Given the description of an element on the screen output the (x, y) to click on. 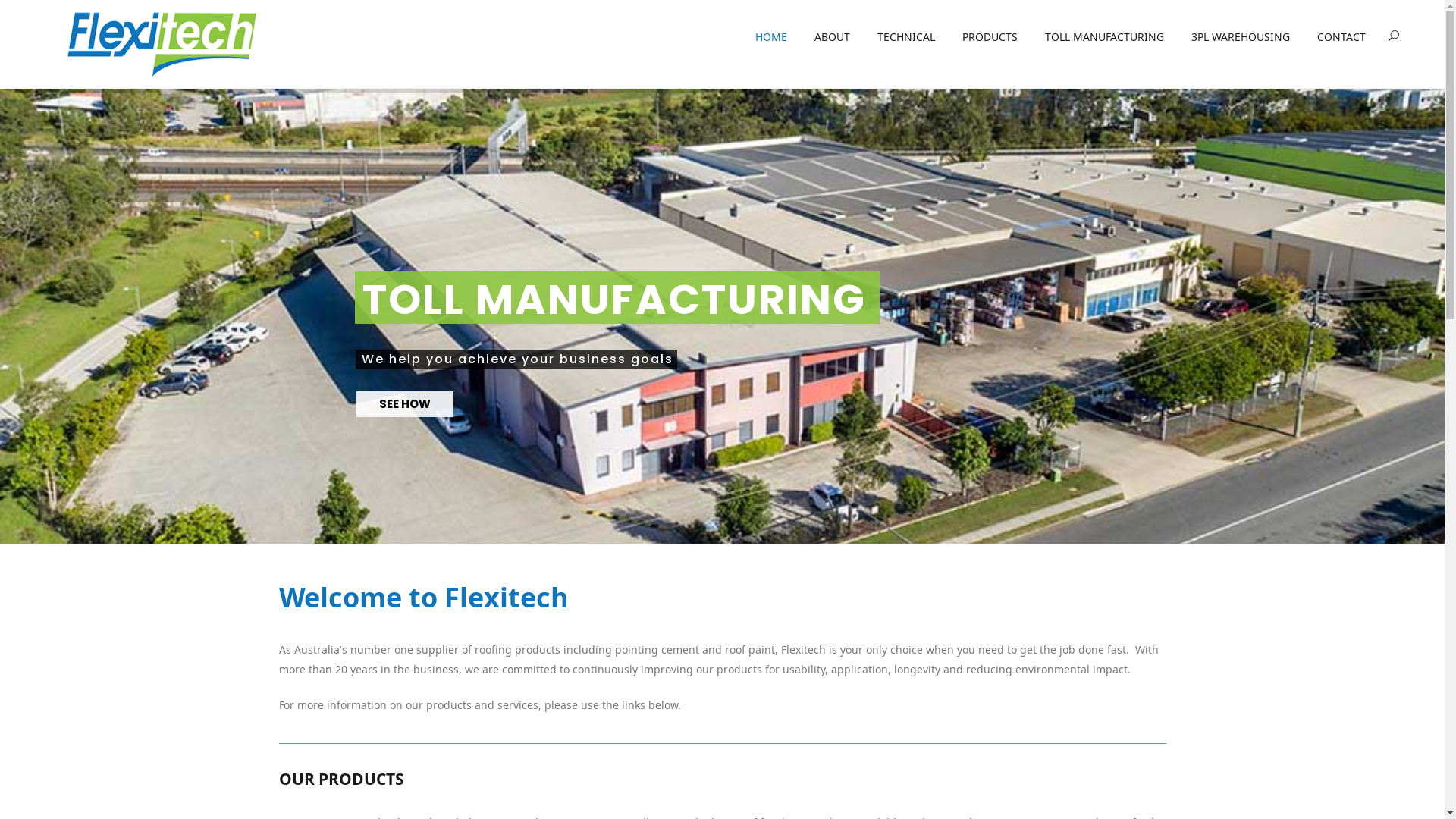
3PL WAREHOUSING Element type: text (1240, 37)
PRODUCTS Element type: text (989, 37)
TOLL MANUFACTURING Element type: text (1104, 37)
HOME Element type: text (770, 37)
TECHNICAL Element type: text (905, 37)
CONTACT Element type: text (1334, 37)
ABOUT Element type: text (831, 37)
SEE HOW Element type: text (404, 404)
